Given the description of an element on the screen output the (x, y) to click on. 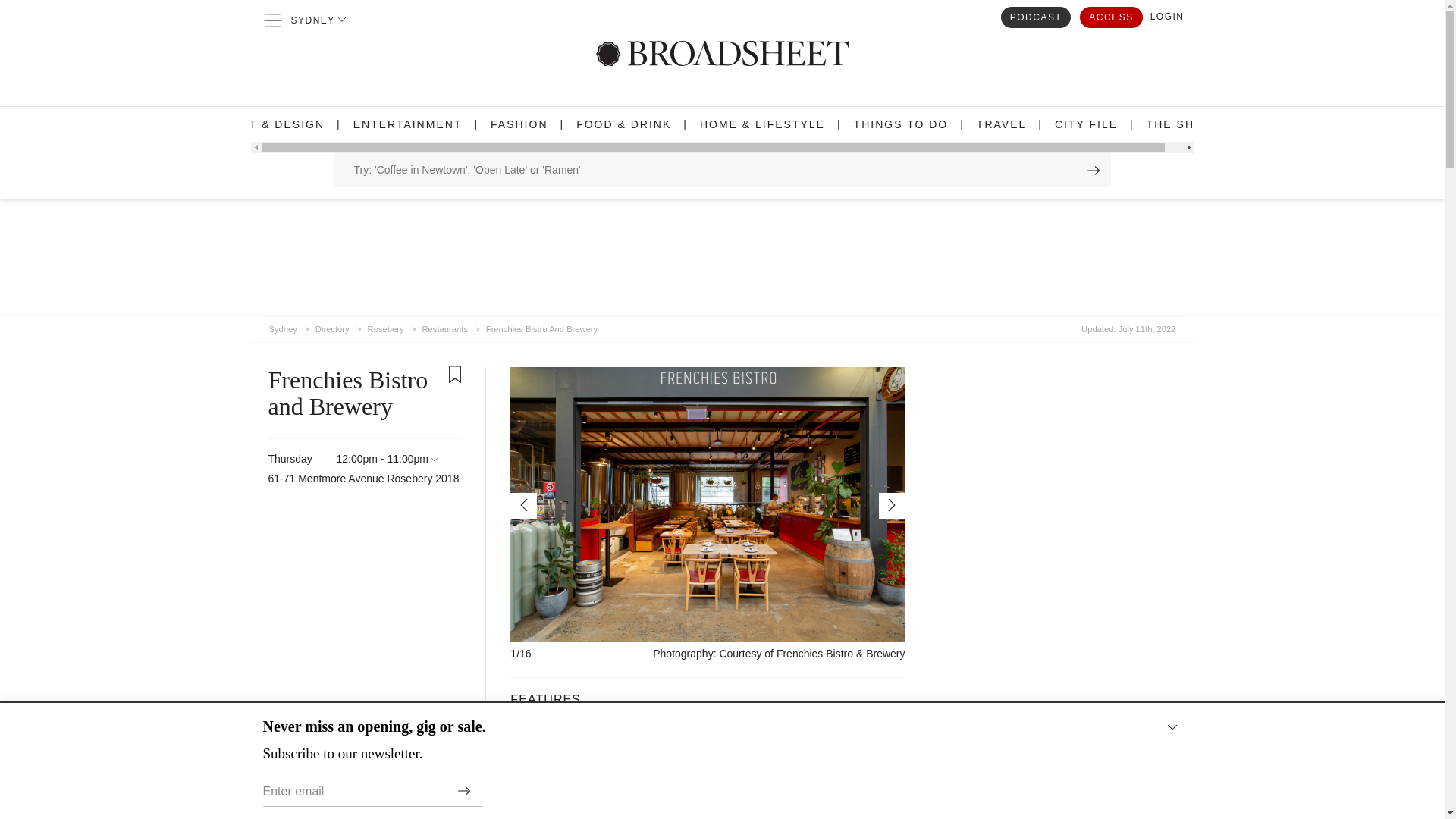
61-71 Mentmore Avenue Rosebery 2018 (363, 478)
THE SHOP (1179, 124)
ENTERTAINMENT (408, 124)
CITY FILE (1086, 124)
Sydney (282, 326)
PODCAST (1036, 16)
Restaurants (444, 326)
FASHION (518, 124)
ACCESS (1110, 16)
Directory (332, 326)
THINGS TO DO (901, 124)
Broadsheet (721, 53)
TRAVEL (1001, 124)
Rosebery (386, 326)
